Given the description of an element on the screen output the (x, y) to click on. 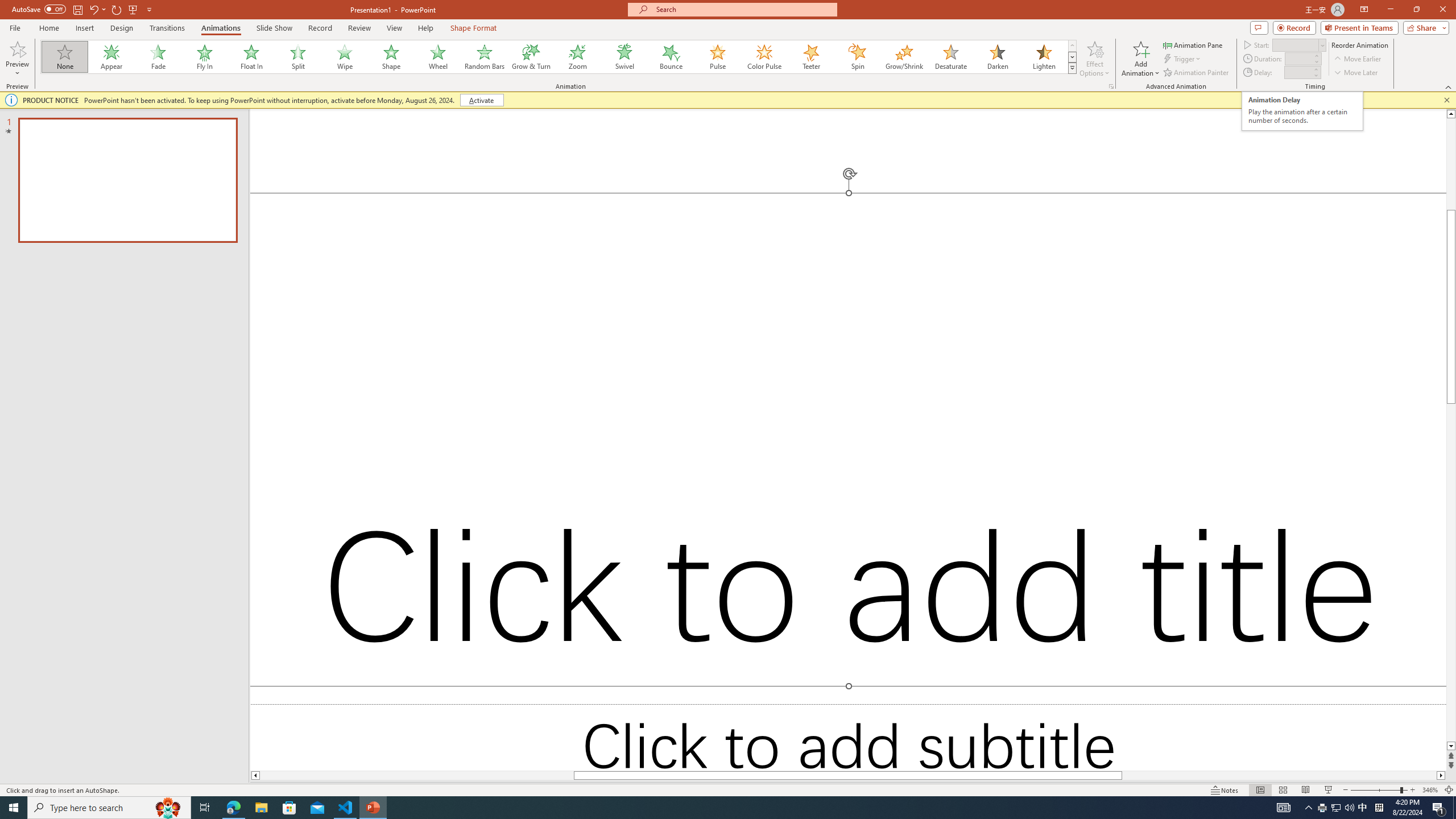
Animation Painter (1196, 72)
Animation Pane (1193, 44)
Move Later (1355, 72)
Fade (158, 56)
Animation Styles (1071, 67)
Wipe (344, 56)
AutomationID: AnimationGallery (558, 56)
